Given the description of an element on the screen output the (x, y) to click on. 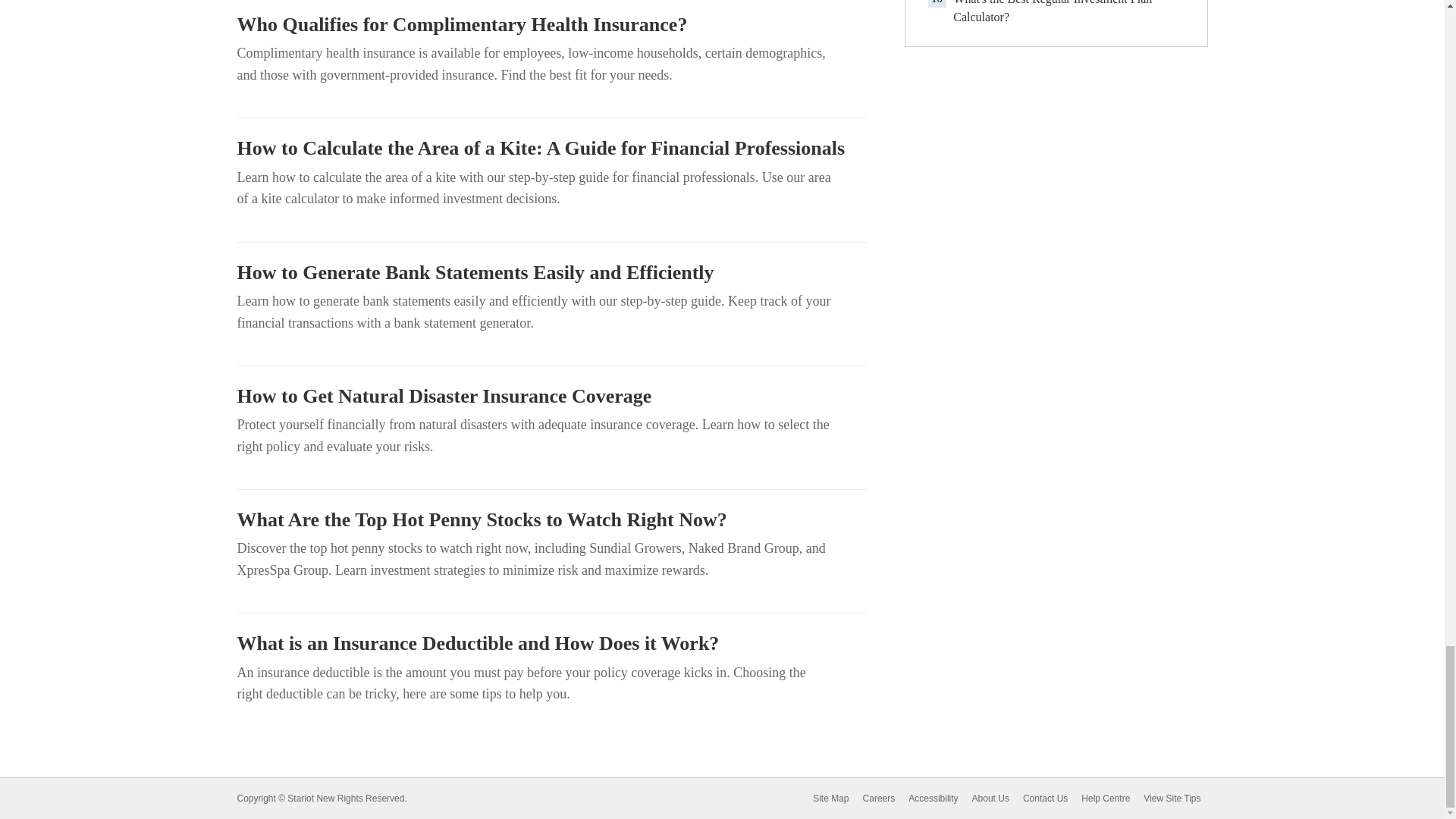
Who Qualifies for Complimentary Health Insurance? (550, 24)
How to Get Natural Disaster Insurance Coverage (550, 395)
What Are the Top Hot Penny Stocks to Watch Right Now? (550, 519)
Who Qualifies for Complimentary Health Insurance? (550, 24)
How to Generate Bank Statements Easily and Efficiently (550, 272)
What is an Insurance Deductible and How Does it Work? (550, 643)
